Given the description of an element on the screen output the (x, y) to click on. 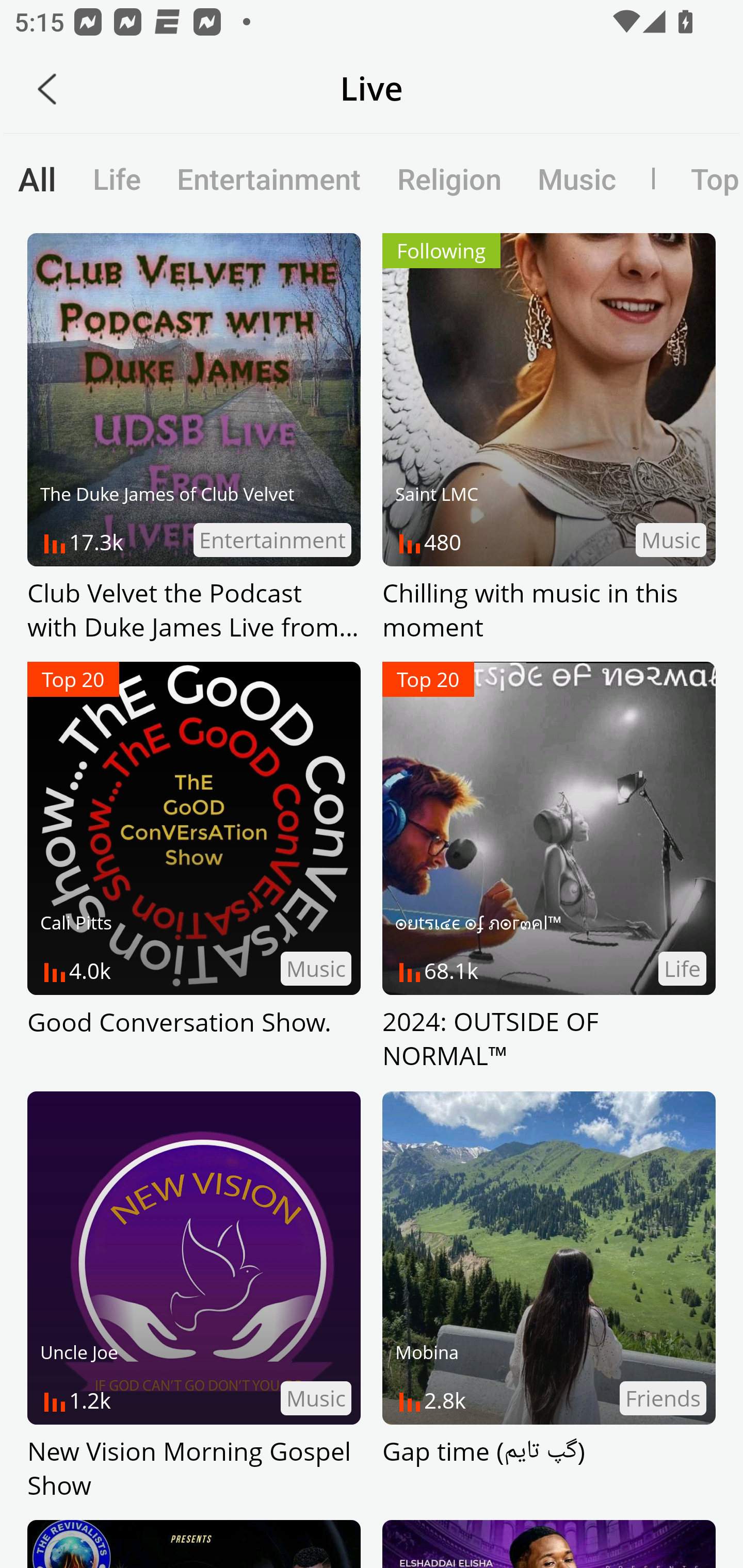
Back (46, 88)
Life (116, 178)
Entertainment (268, 178)
Religion (448, 178)
Music (576, 178)
Mobina 2.8k Friends Gap time (گپ تایم) (548, 1296)
